Given the description of an element on the screen output the (x, y) to click on. 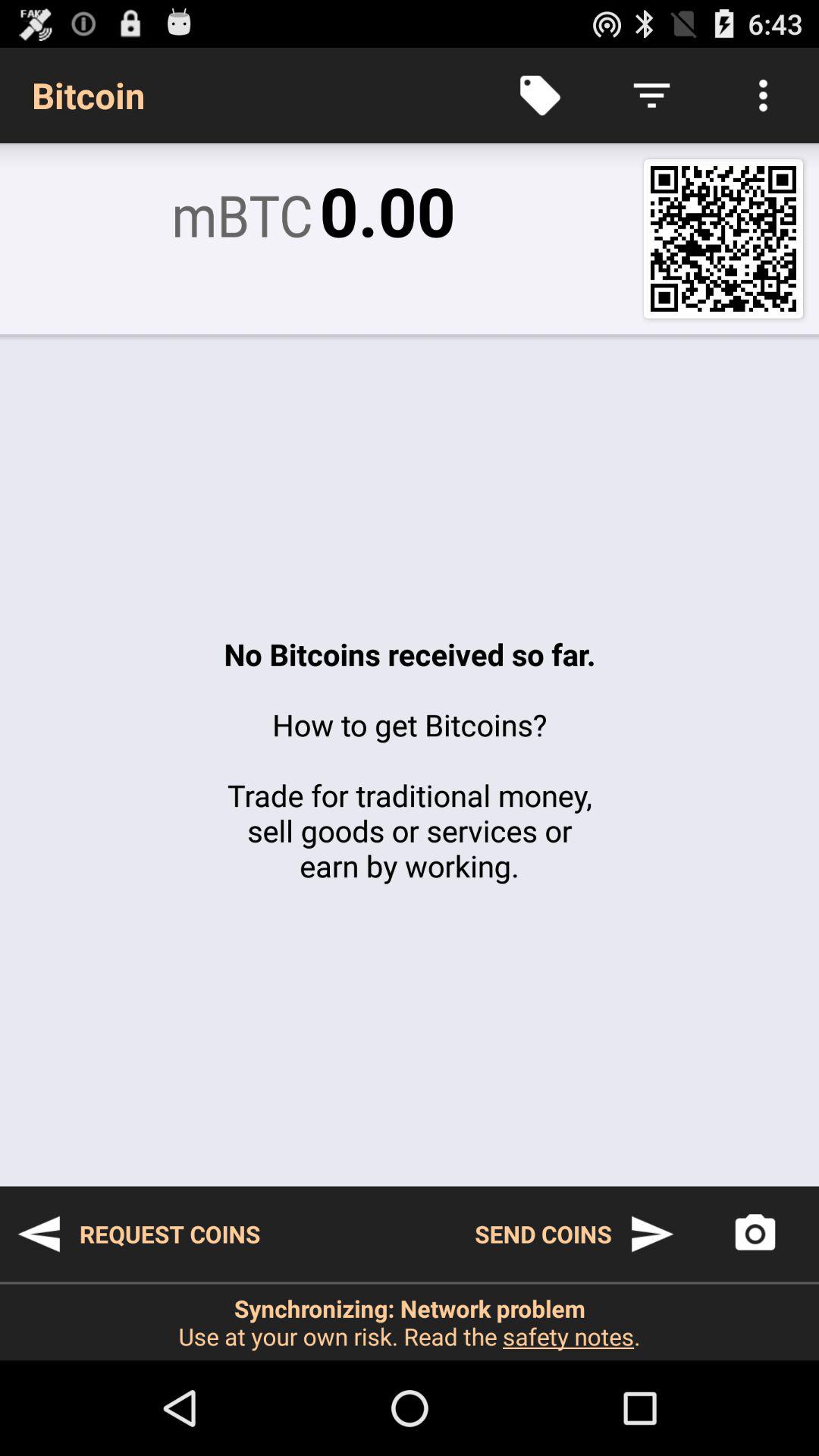
choose the item below the no bitcoins received icon (574, 1233)
